Given the description of an element on the screen output the (x, y) to click on. 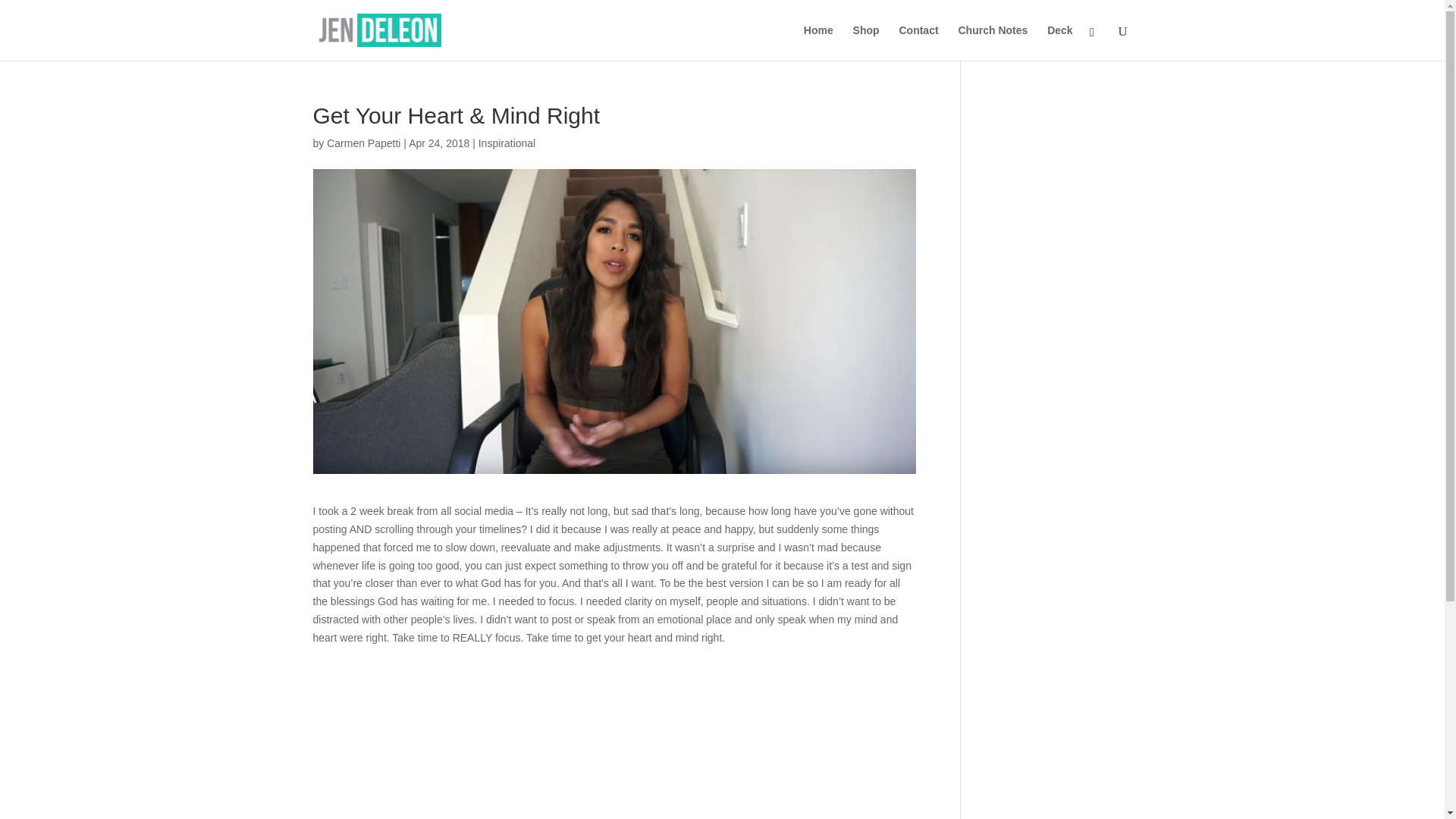
Posts by Carmen Papetti (363, 143)
Inspirational (507, 143)
Contact (917, 42)
Church Notes (992, 42)
Carmen Papetti (363, 143)
